Given the description of an element on the screen output the (x, y) to click on. 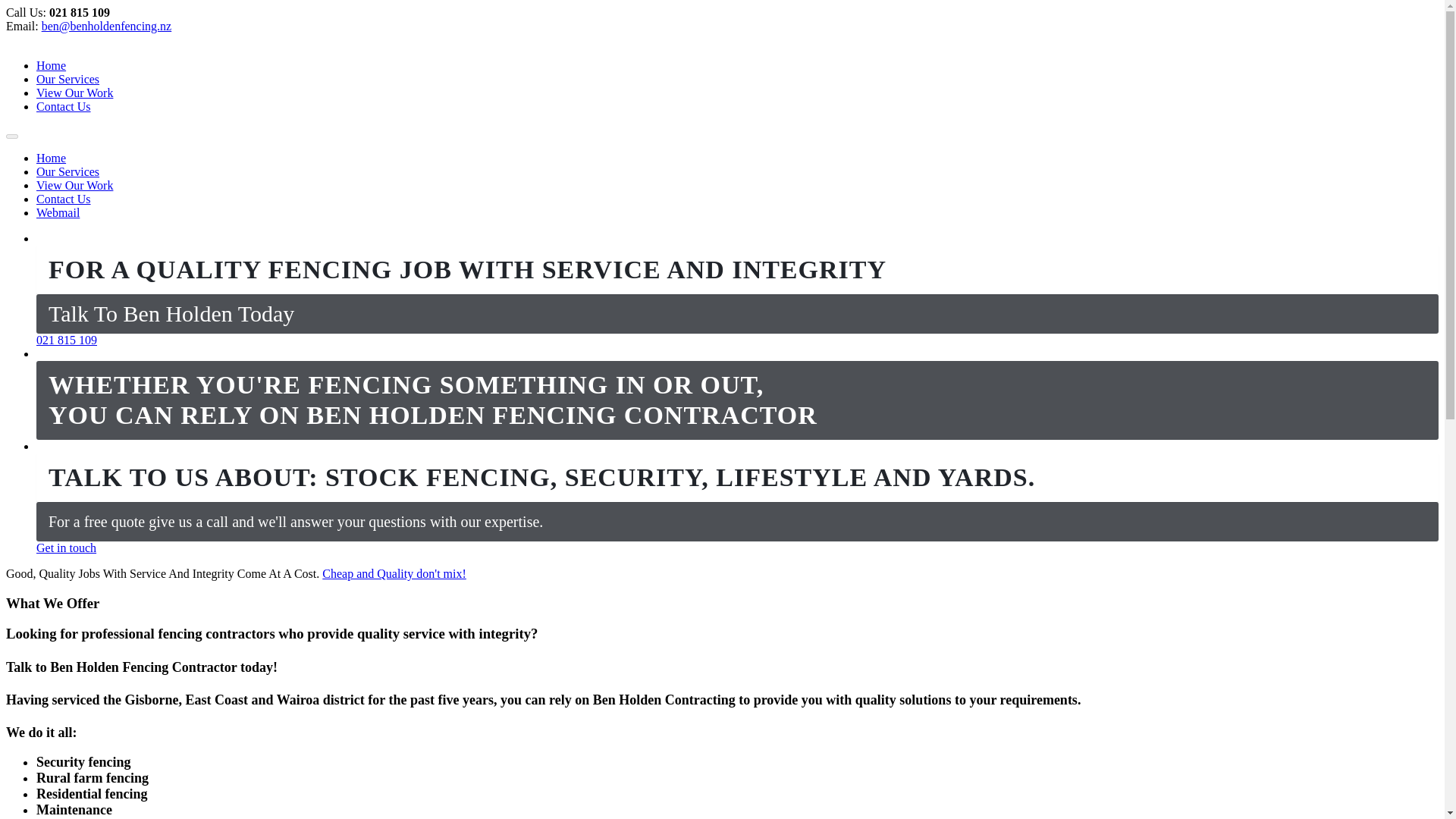
Contact Us (63, 106)
View Our Work (74, 185)
Our Services (67, 78)
Home (50, 157)
Our Services (67, 171)
Home (50, 65)
Webmail (58, 212)
View Our Work (74, 92)
Contact Us (63, 198)
Cheap and Quality don't mix! (393, 573)
021 815 109 (66, 339)
Get in touch (66, 547)
